Given the description of an element on the screen output the (x, y) to click on. 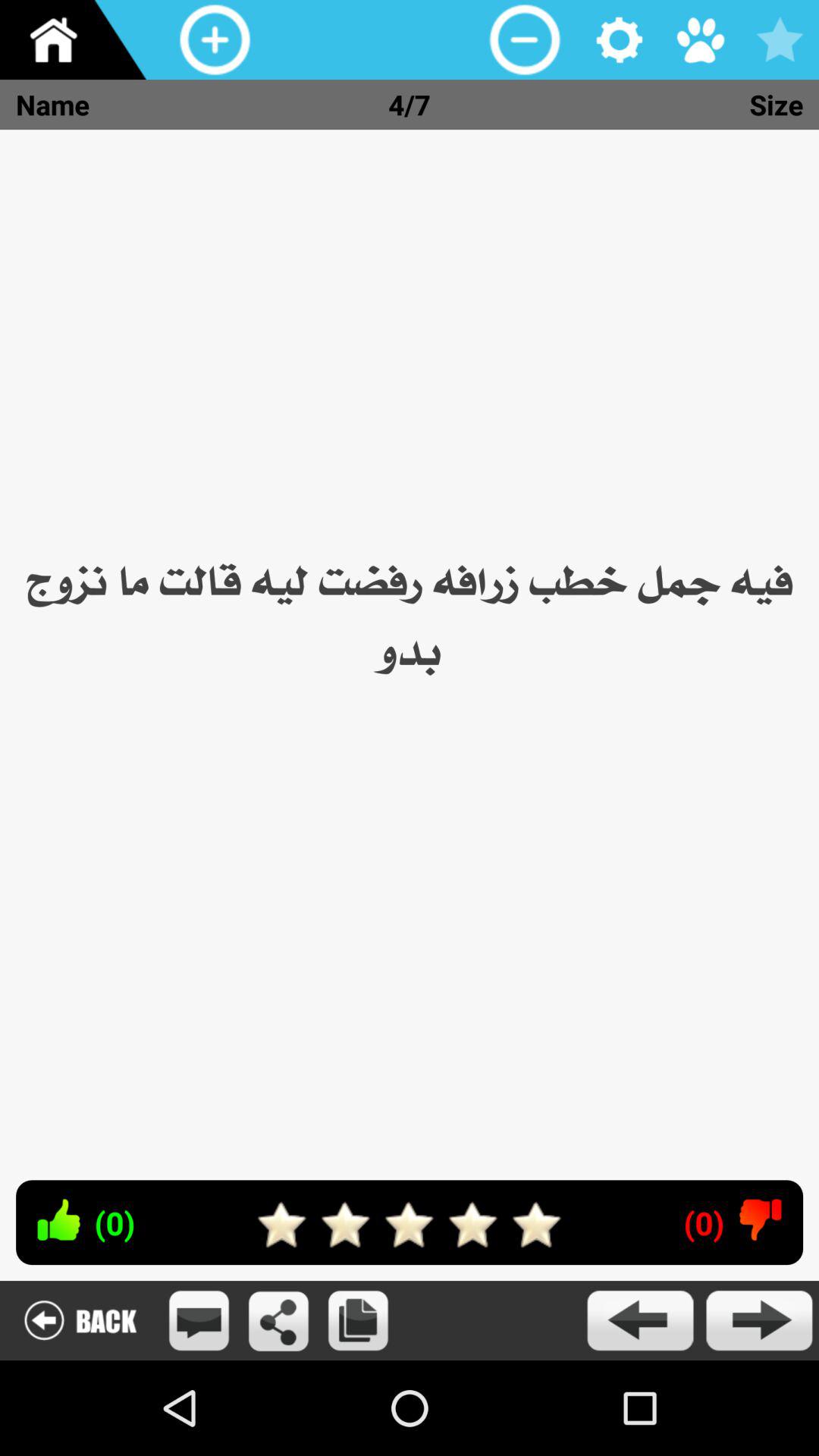
tap the item above size app (699, 39)
